Given the description of an element on the screen output the (x, y) to click on. 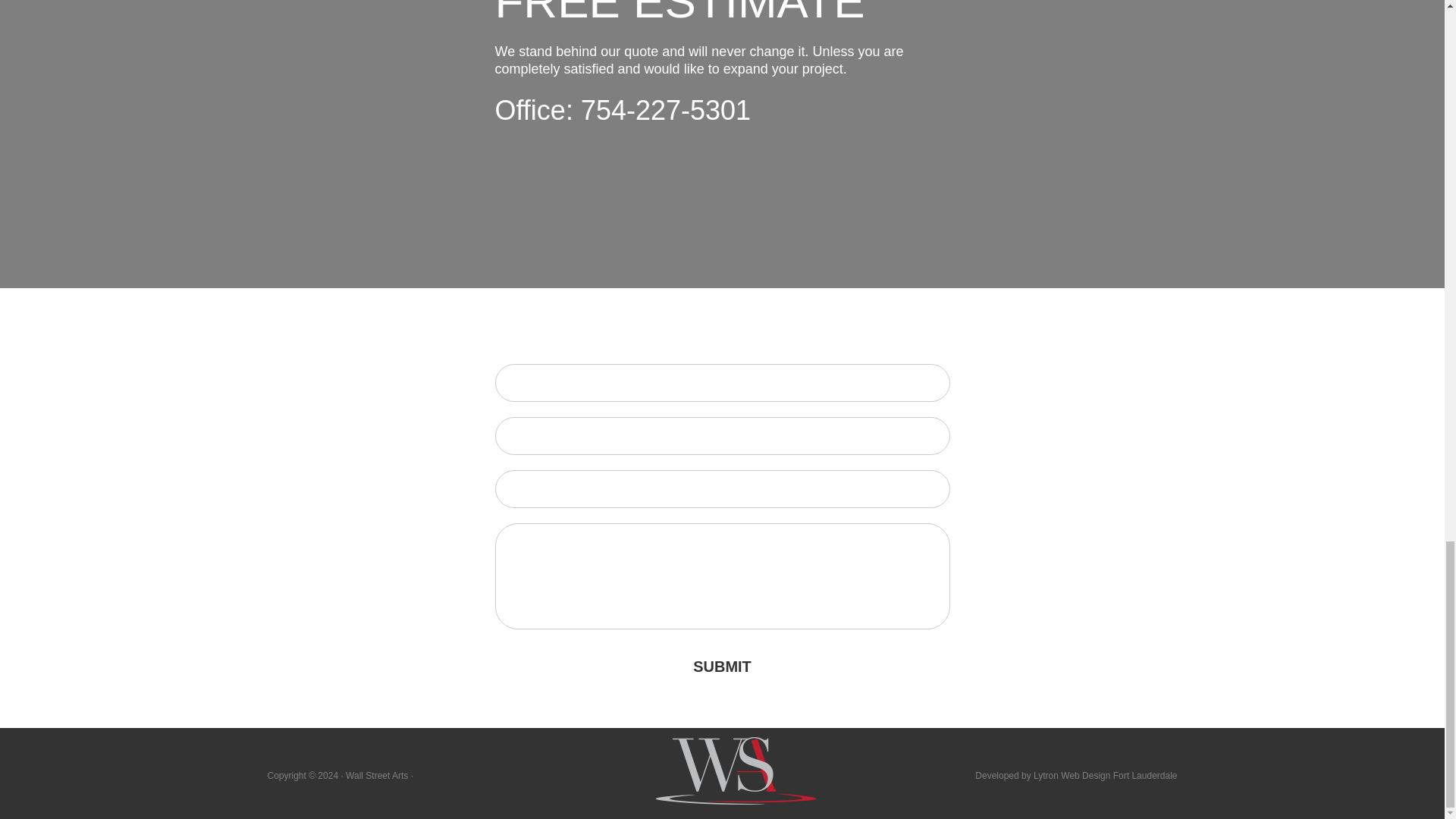
Wall Street Arts (376, 775)
Submit (722, 667)
